Given the description of an element on the screen output the (x, y) to click on. 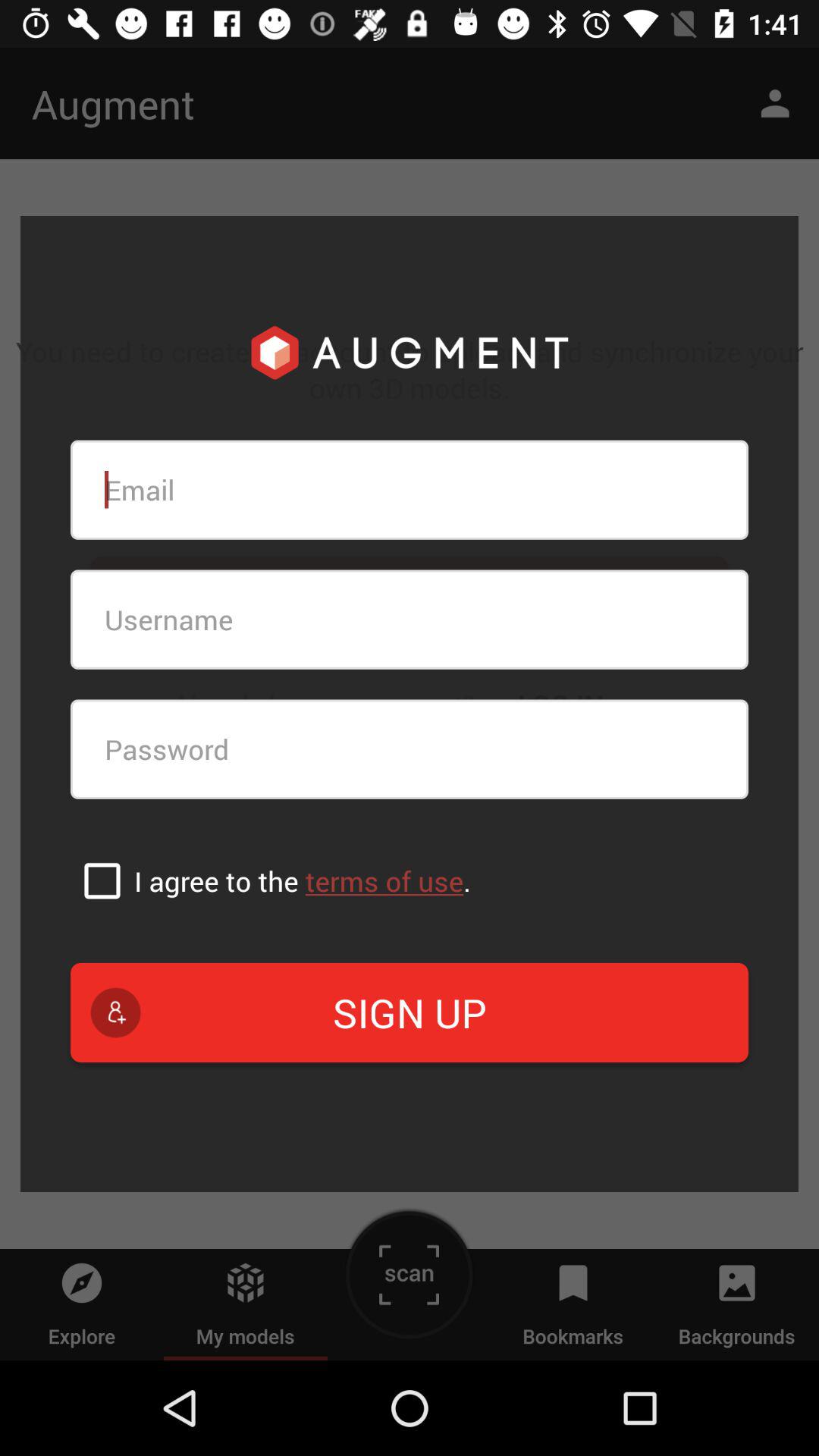
enter password (409, 749)
